Given the description of an element on the screen output the (x, y) to click on. 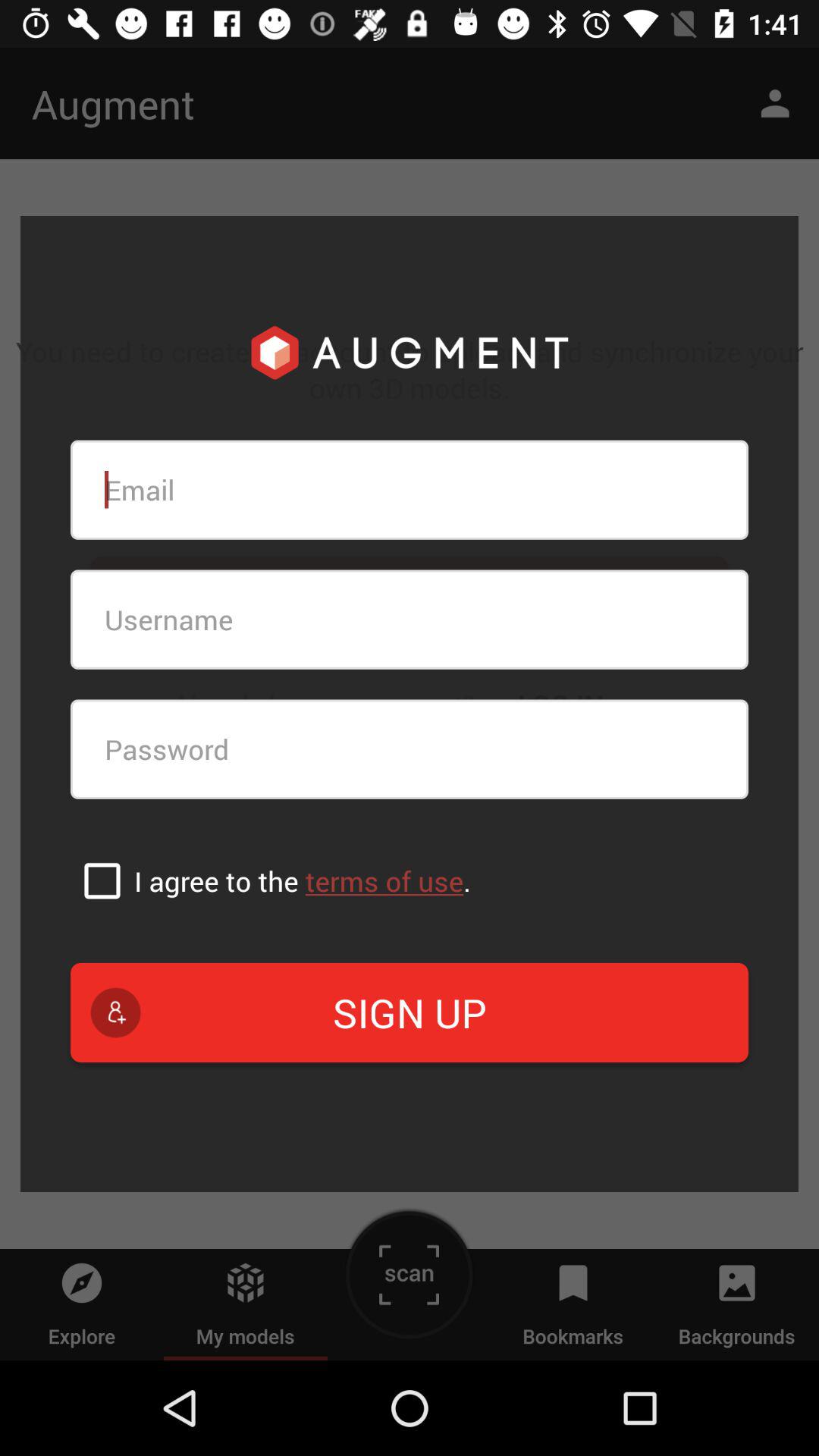
enter password (409, 749)
